Given the description of an element on the screen output the (x, y) to click on. 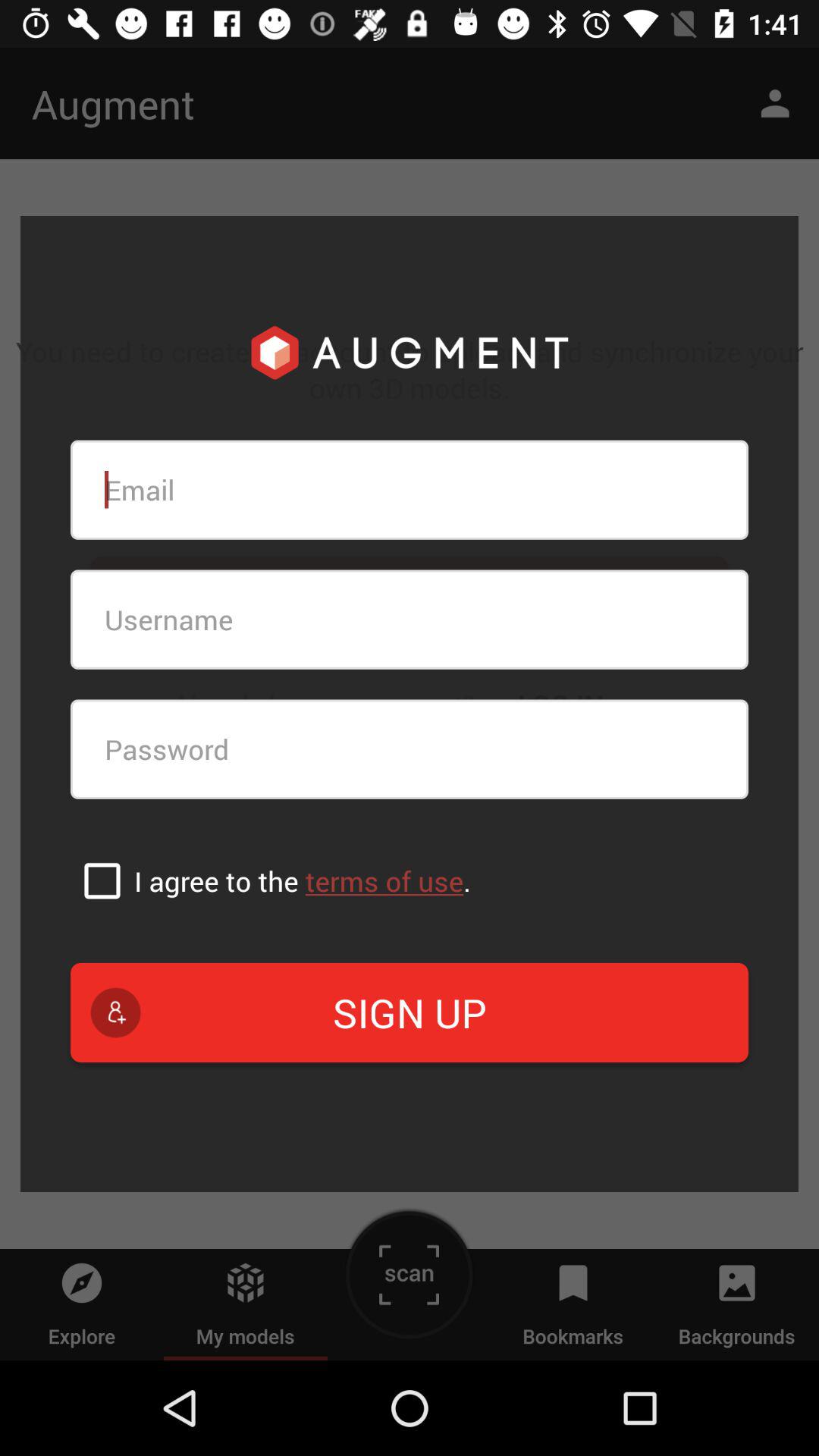
enter password (409, 749)
